Given the description of an element on the screen output the (x, y) to click on. 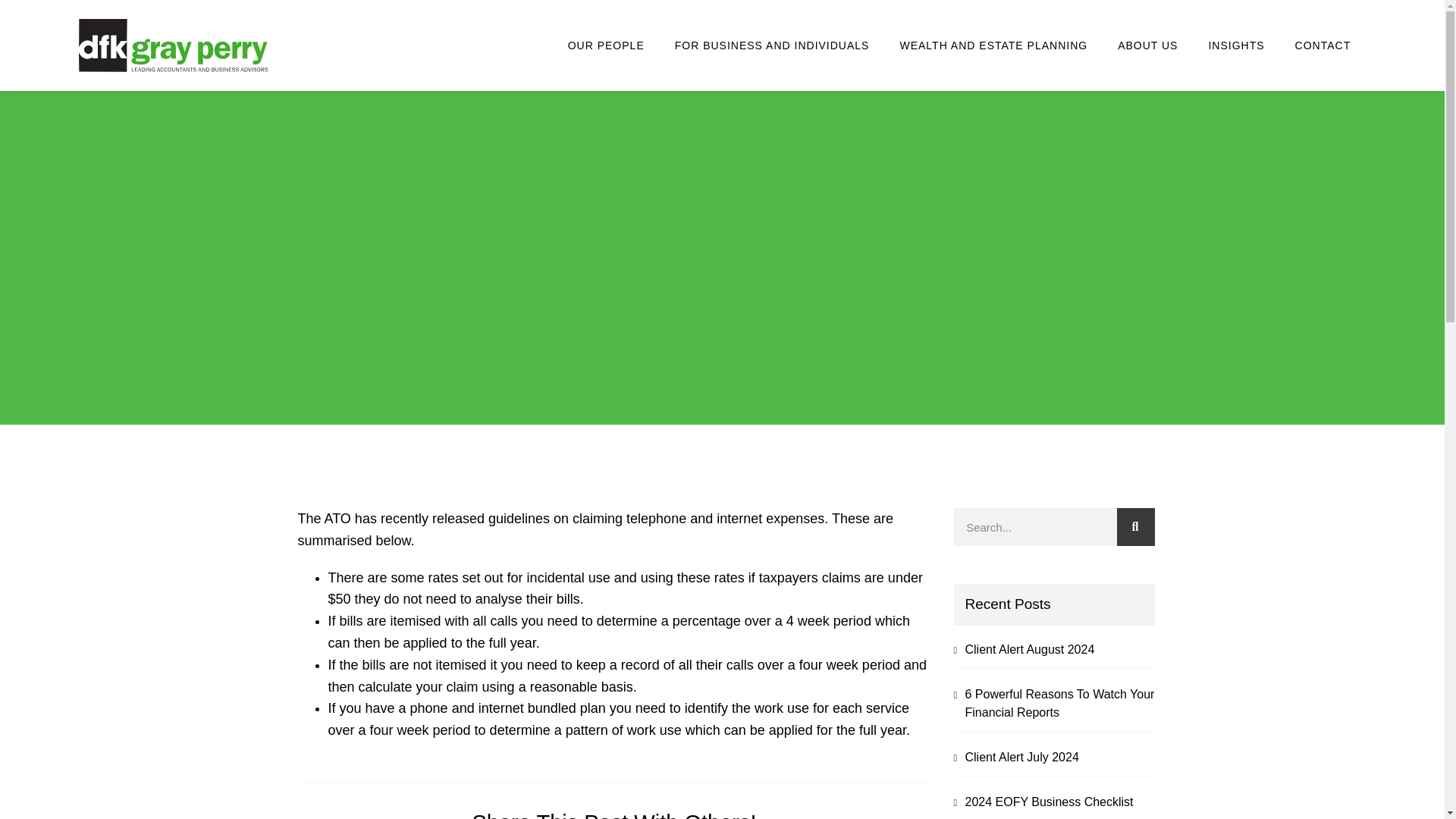
2024 EOFY Business Checklist (1047, 801)
ABOUT US (1147, 45)
Search (1135, 526)
Client Alert August 2024 (1028, 649)
WEALTH AND ESTATE PLANNING (992, 45)
6 Powerful Reasons To Watch Your Financial Reports (1058, 703)
Search (1034, 526)
CONTACT (1323, 45)
Client Alert July 2024 (1020, 757)
INSIGHTS (1235, 45)
FOR BUSINESS AND INDIVIDUALS (772, 45)
OUR PEOPLE (606, 45)
